Given the description of an element on the screen output the (x, y) to click on. 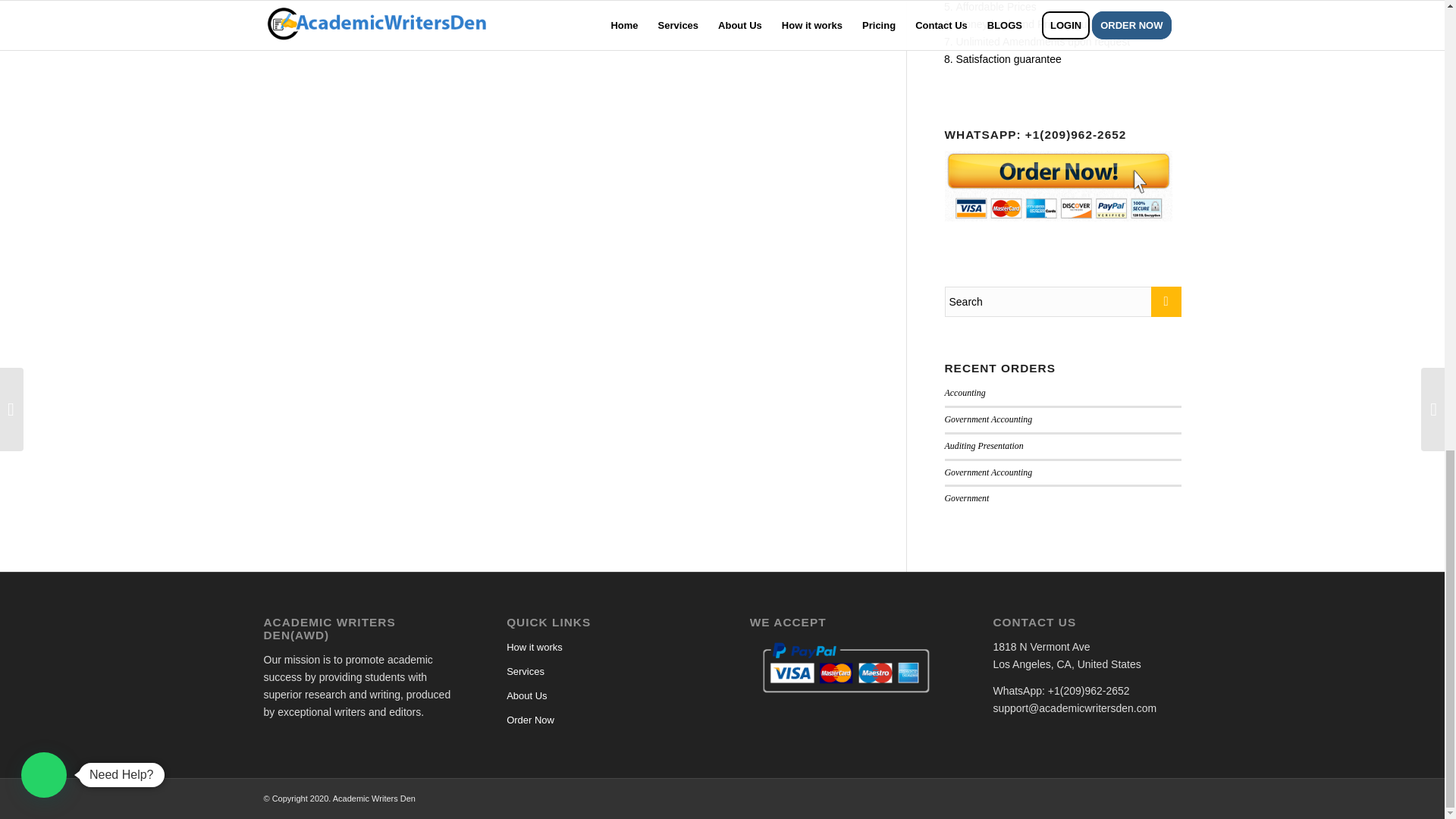
Order Now (600, 720)
Accounting (964, 392)
Auditing Presentation (983, 445)
How it works (600, 647)
Government Accounting (988, 419)
Services (600, 671)
Government (967, 498)
About Us (600, 695)
Government Accounting (988, 471)
